Given the description of an element on the screen output the (x, y) to click on. 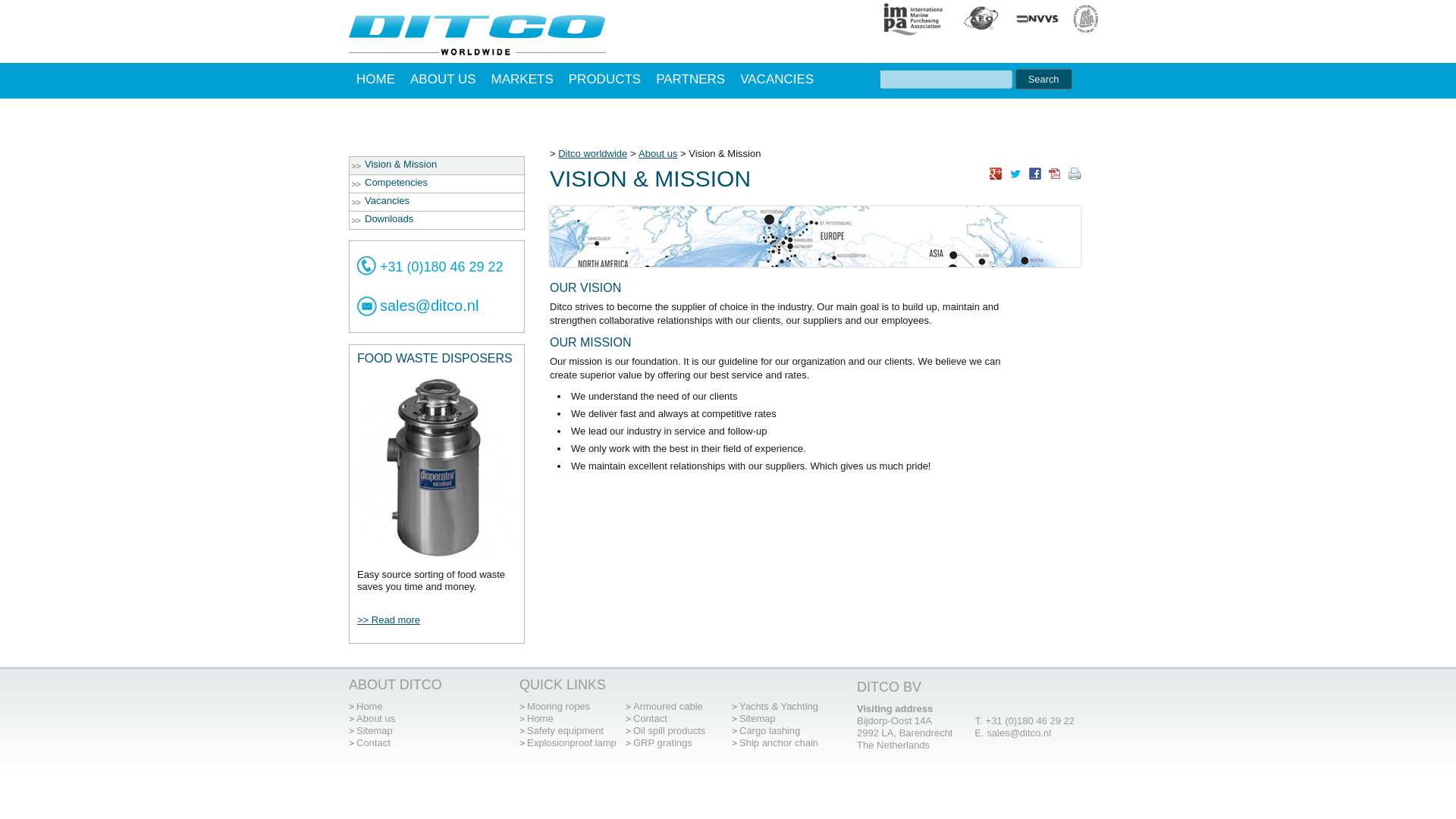
Ditco logo (477, 36)
VACANCIES (776, 79)
Contact (373, 742)
About us (375, 717)
Sitemap (757, 717)
Search (1042, 78)
About us (658, 153)
Armoured cable (668, 706)
About us (658, 153)
ABOUT US (443, 79)
CONTACT (387, 109)
Ditco worldwide (592, 153)
Vacancies (440, 200)
nvvs (1036, 18)
HOME (376, 79)
